Given the description of an element on the screen output the (x, y) to click on. 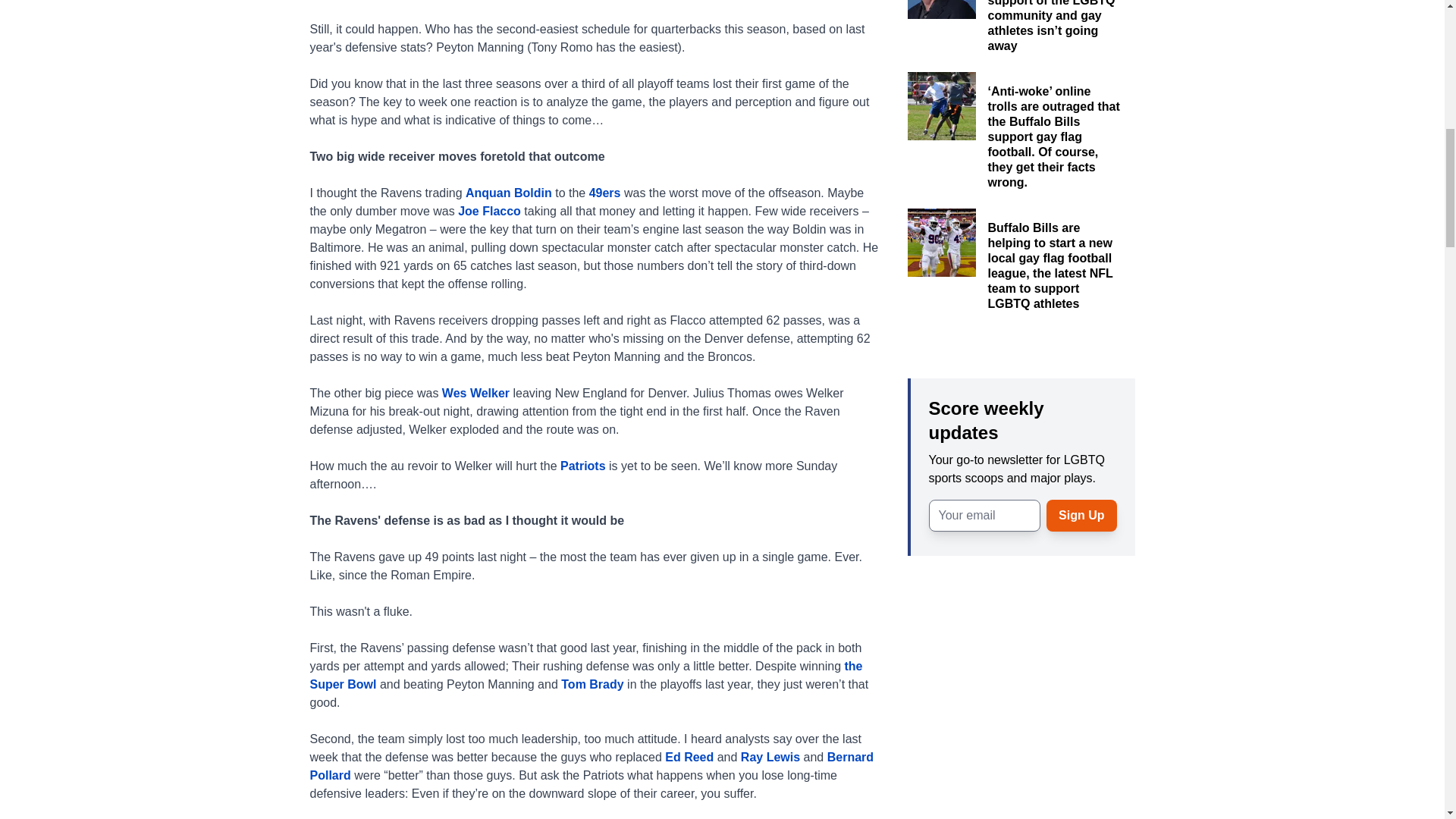
Ed Reed (689, 757)
Joe Flacco (489, 210)
Anquan Boldin (508, 192)
Tom Brady (591, 684)
49ers (605, 192)
the Super Bowl (584, 675)
Ray Lewis (770, 757)
Bernard Pollard (590, 766)
Patriots (582, 465)
Wes Welker (475, 392)
